Given the description of an element on the screen output the (x, y) to click on. 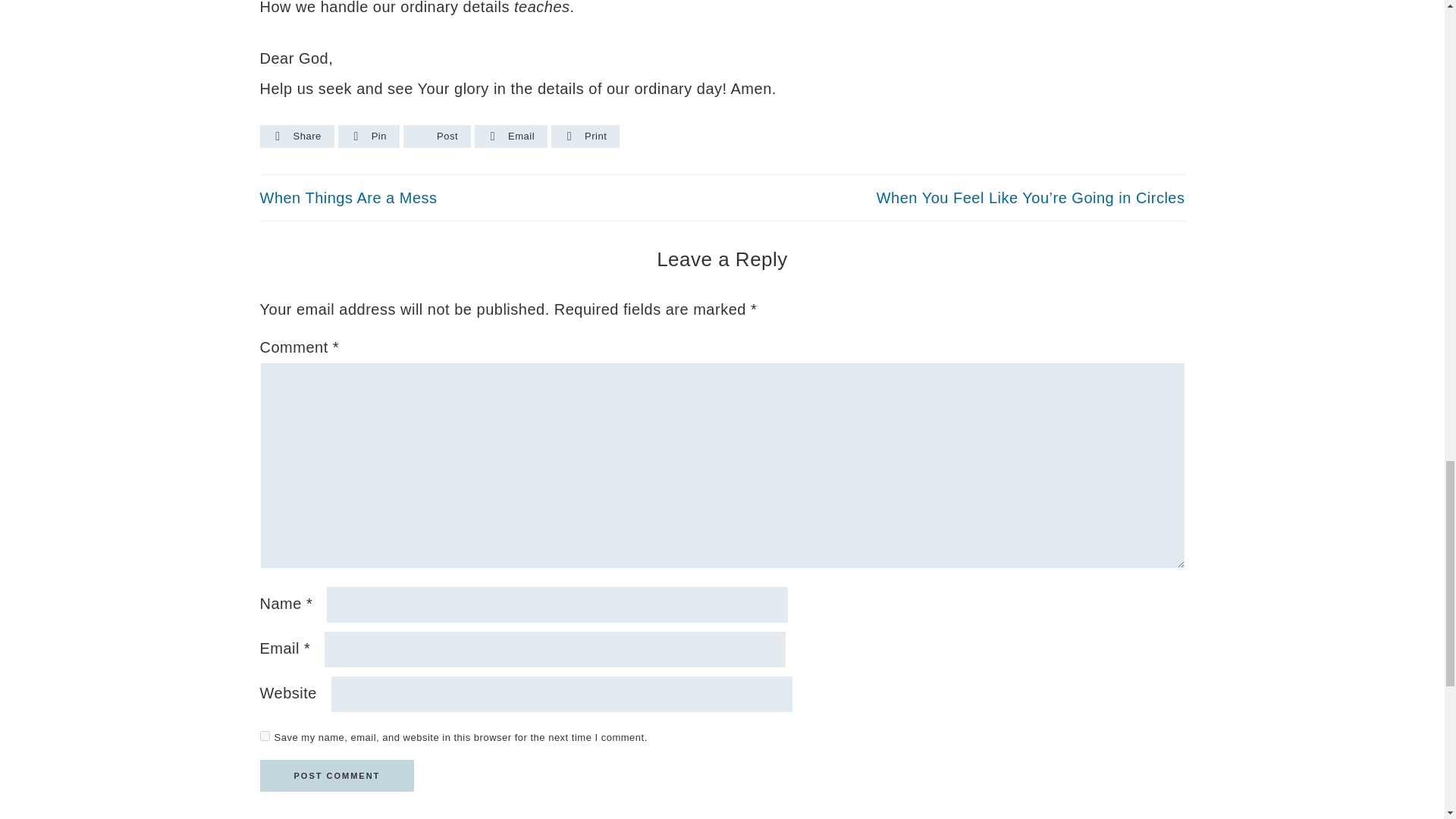
Share (296, 137)
Post Comment (336, 775)
yes (264, 736)
Email (511, 137)
Post Comment (336, 775)
Post (437, 137)
When Things Are a Mess (347, 197)
Print (584, 137)
Pin (368, 137)
